Given the description of an element on the screen output the (x, y) to click on. 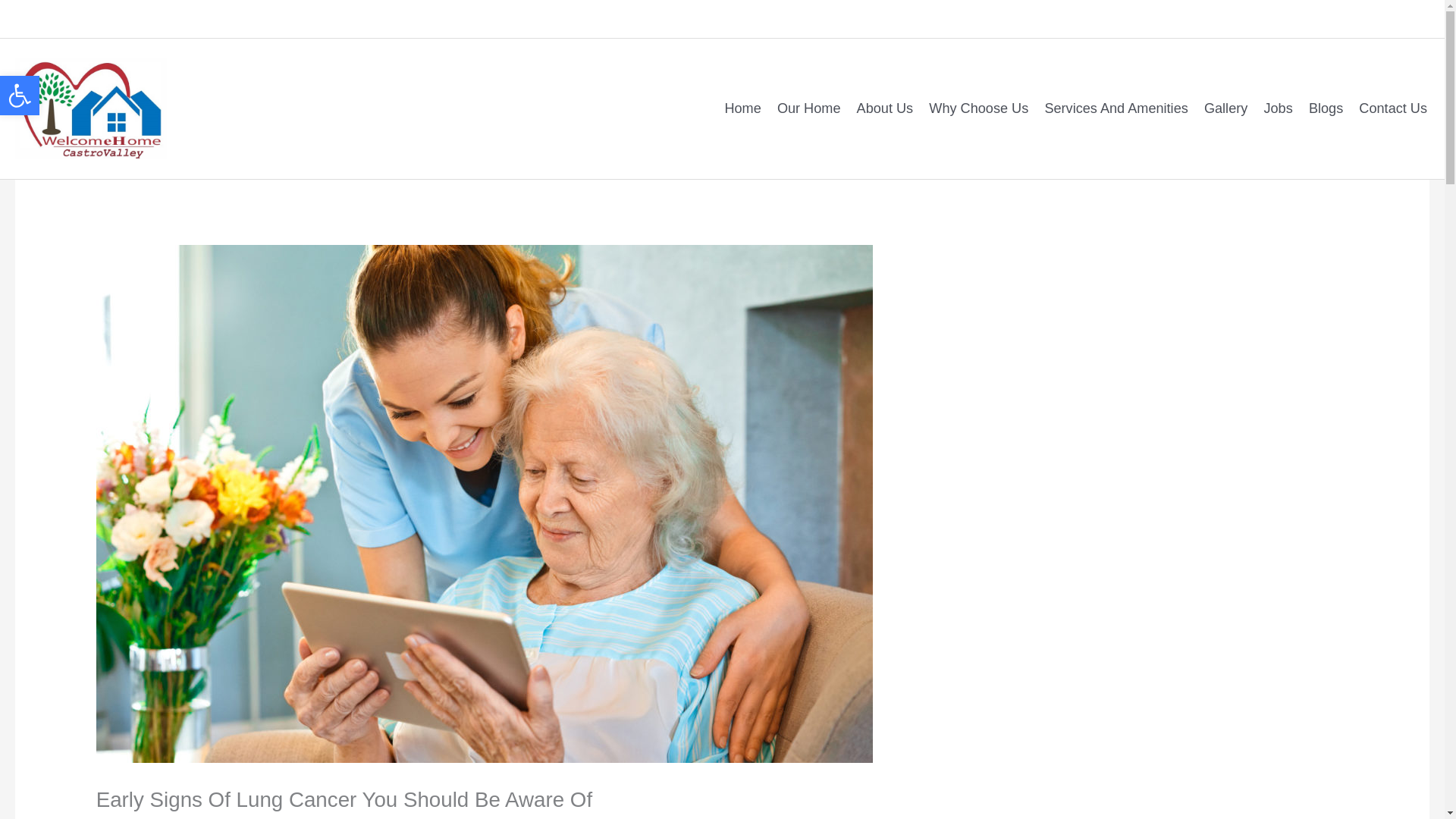
Jobs (1271, 108)
Our Home (802, 108)
Home (736, 108)
Why Choose Us (972, 108)
Services And Amenities (1110, 108)
Grayscale (19, 95)
